Given the description of an element on the screen output the (x, y) to click on. 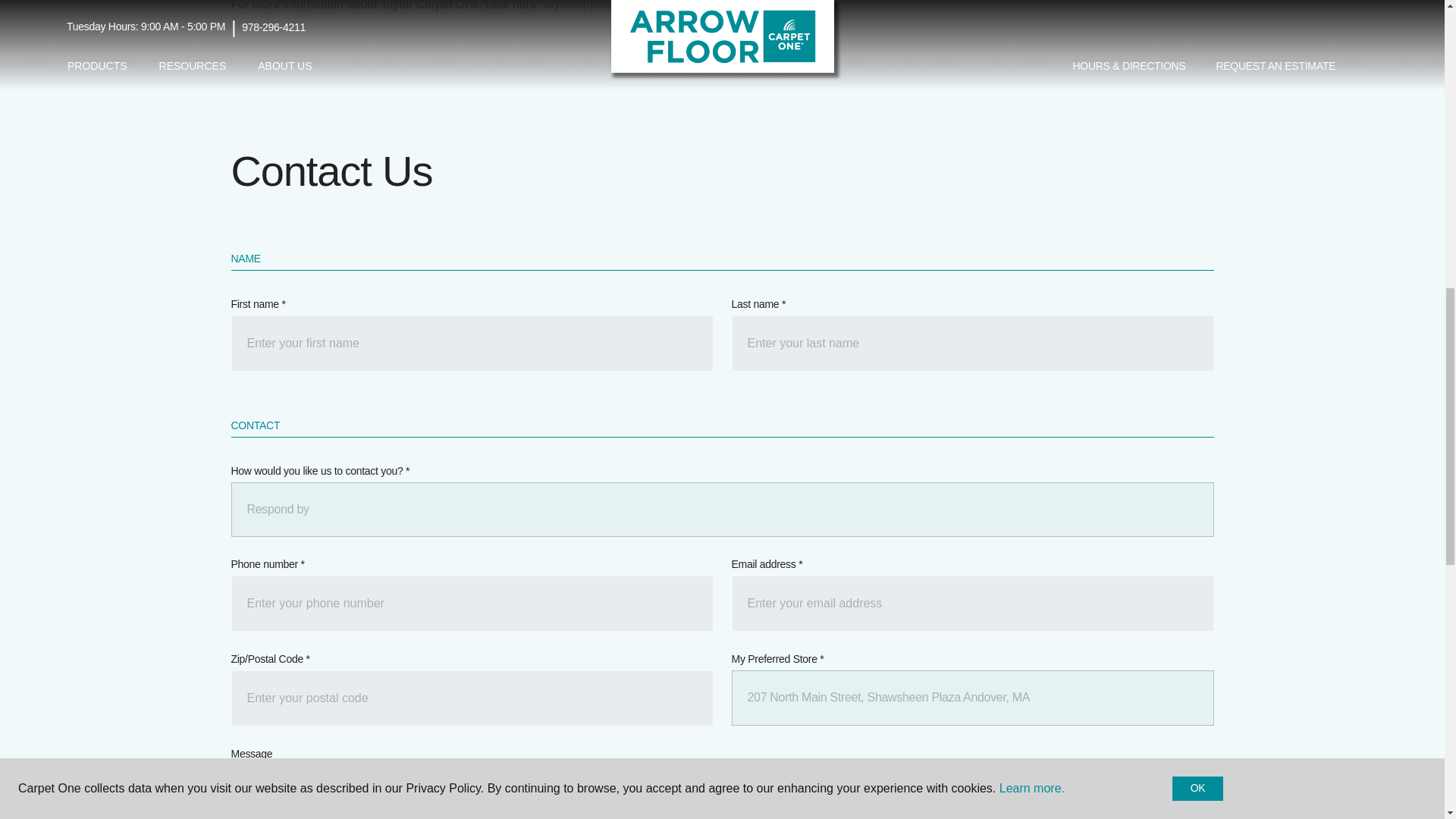
MyMessage (721, 791)
EmailAddress (971, 603)
PostalCode (471, 698)
FirstName (471, 343)
CleanHomePhone (471, 603)
LastName (971, 343)
